Given the description of an element on the screen output the (x, y) to click on. 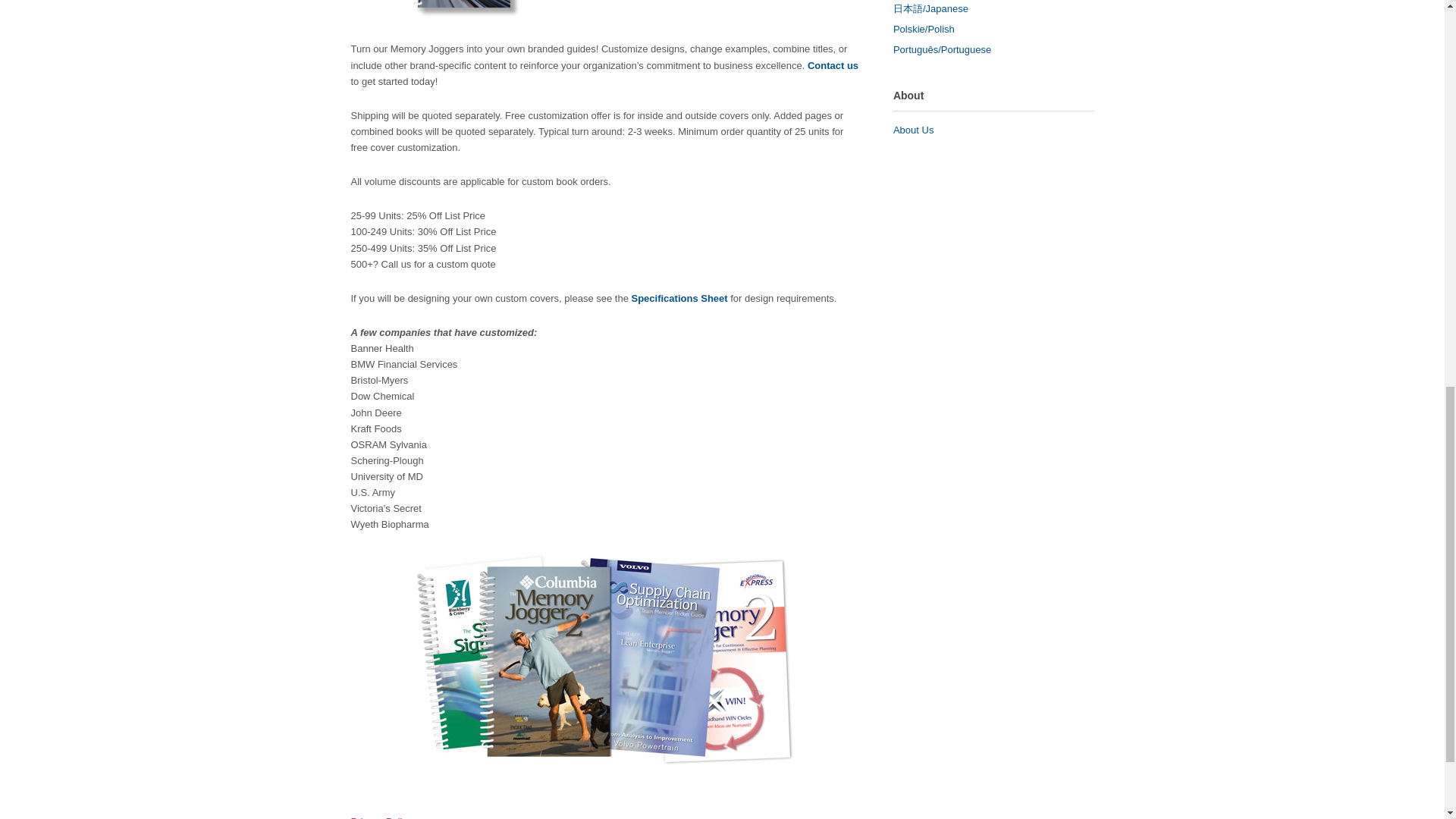
Contact us (833, 65)
Specifications Sheet (678, 297)
About Us (913, 129)
